Given the description of an element on the screen output the (x, y) to click on. 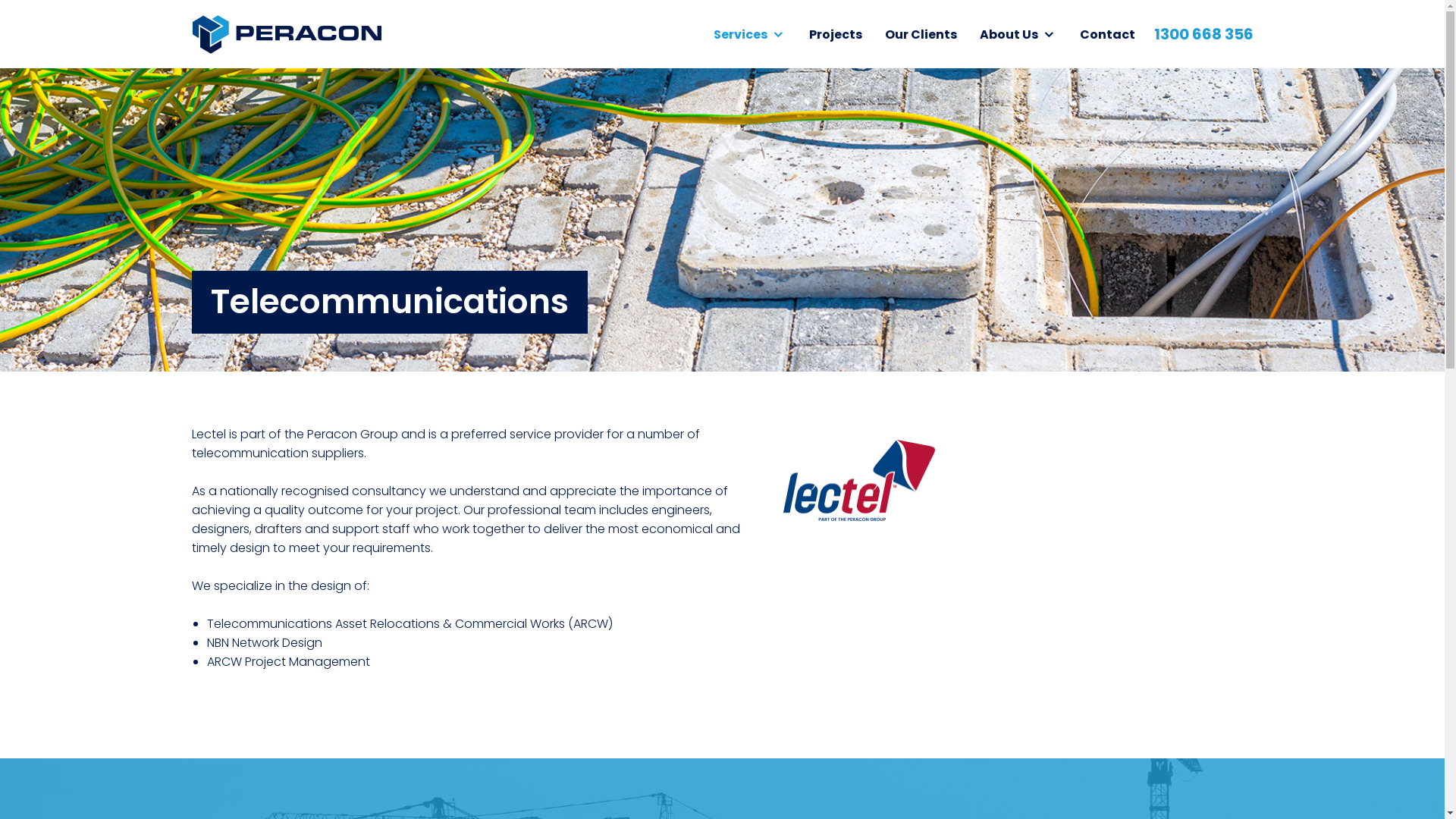
Services Element type: text (749, 33)
Projects Element type: text (835, 33)
Contact Element type: text (1106, 33)
Our Clients Element type: text (920, 33)
1300 668 356 Element type: text (1203, 33)
About Us Element type: text (1017, 33)
